Given the description of an element on the screen output the (x, y) to click on. 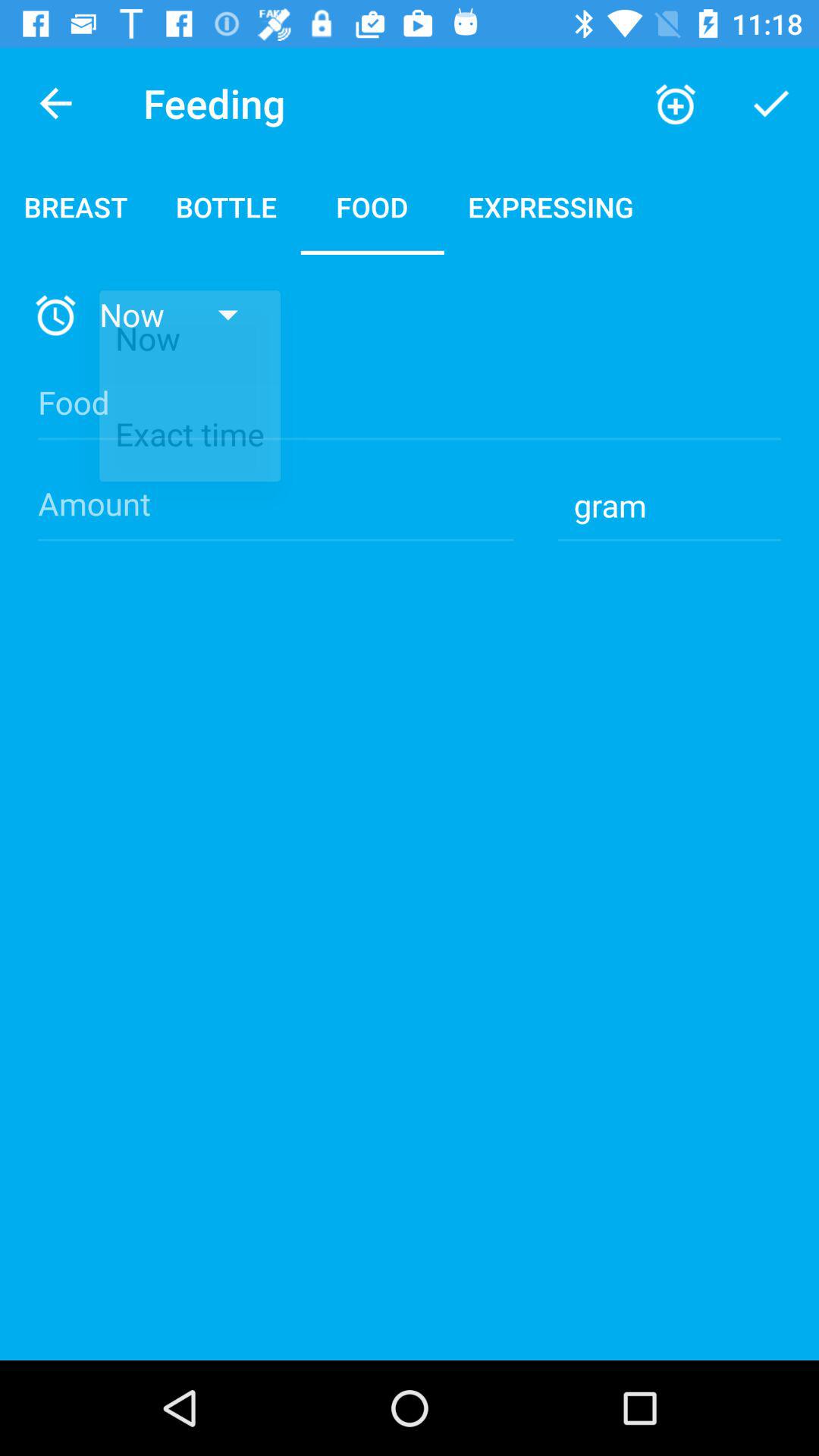
food exact time (409, 415)
